Given the description of an element on the screen output the (x, y) to click on. 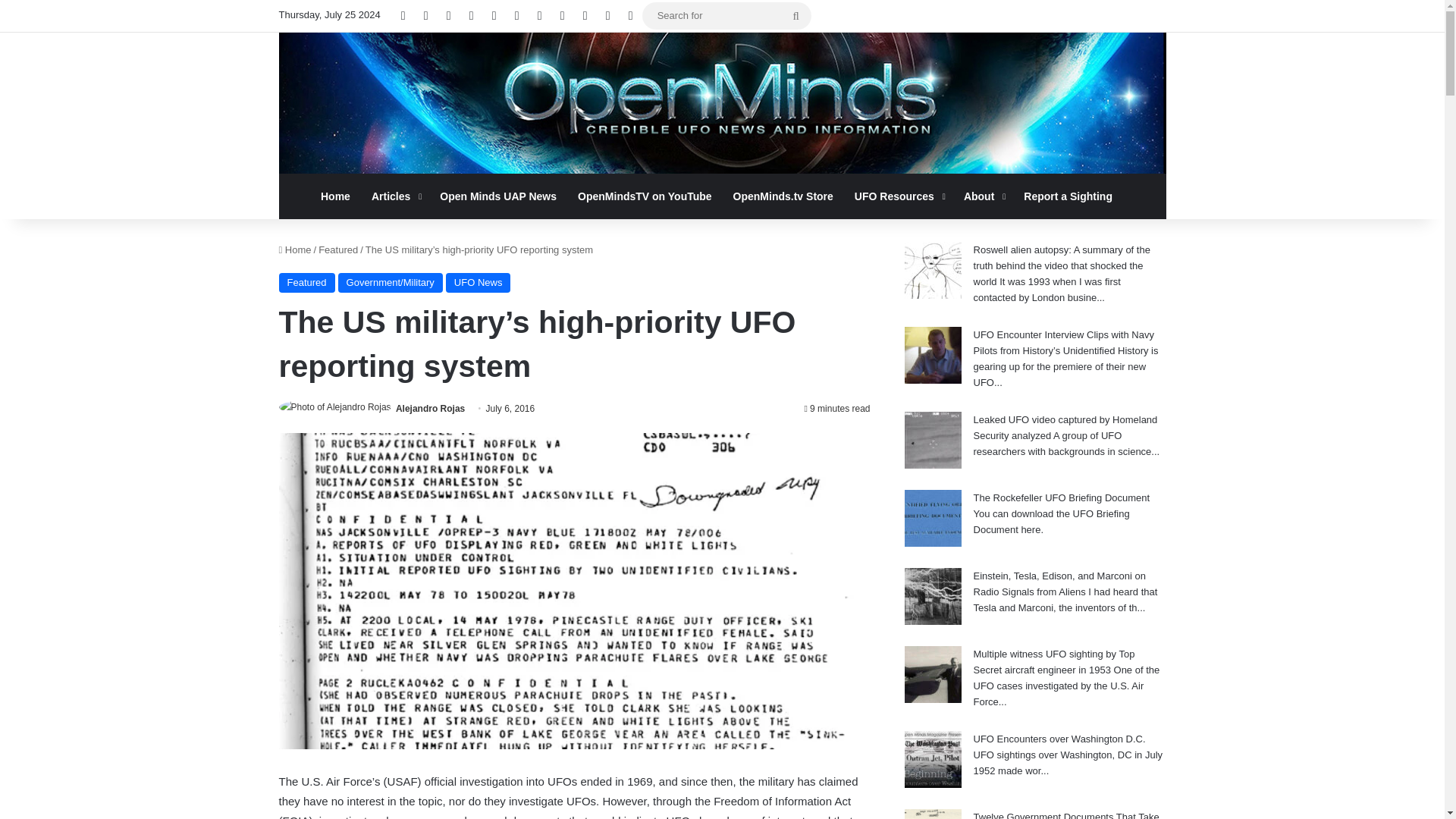
Search for (795, 15)
OpenMinds.tv Store (783, 196)
Search for (726, 15)
Home (335, 196)
Open Minds UAP News (498, 196)
Alejandro Rojas (430, 408)
UFO Resources (898, 196)
Articles (395, 196)
OpenMindsTV on YouTube (644, 196)
Openminds.tv (722, 102)
About (983, 196)
